Given the description of an element on the screen output the (x, y) to click on. 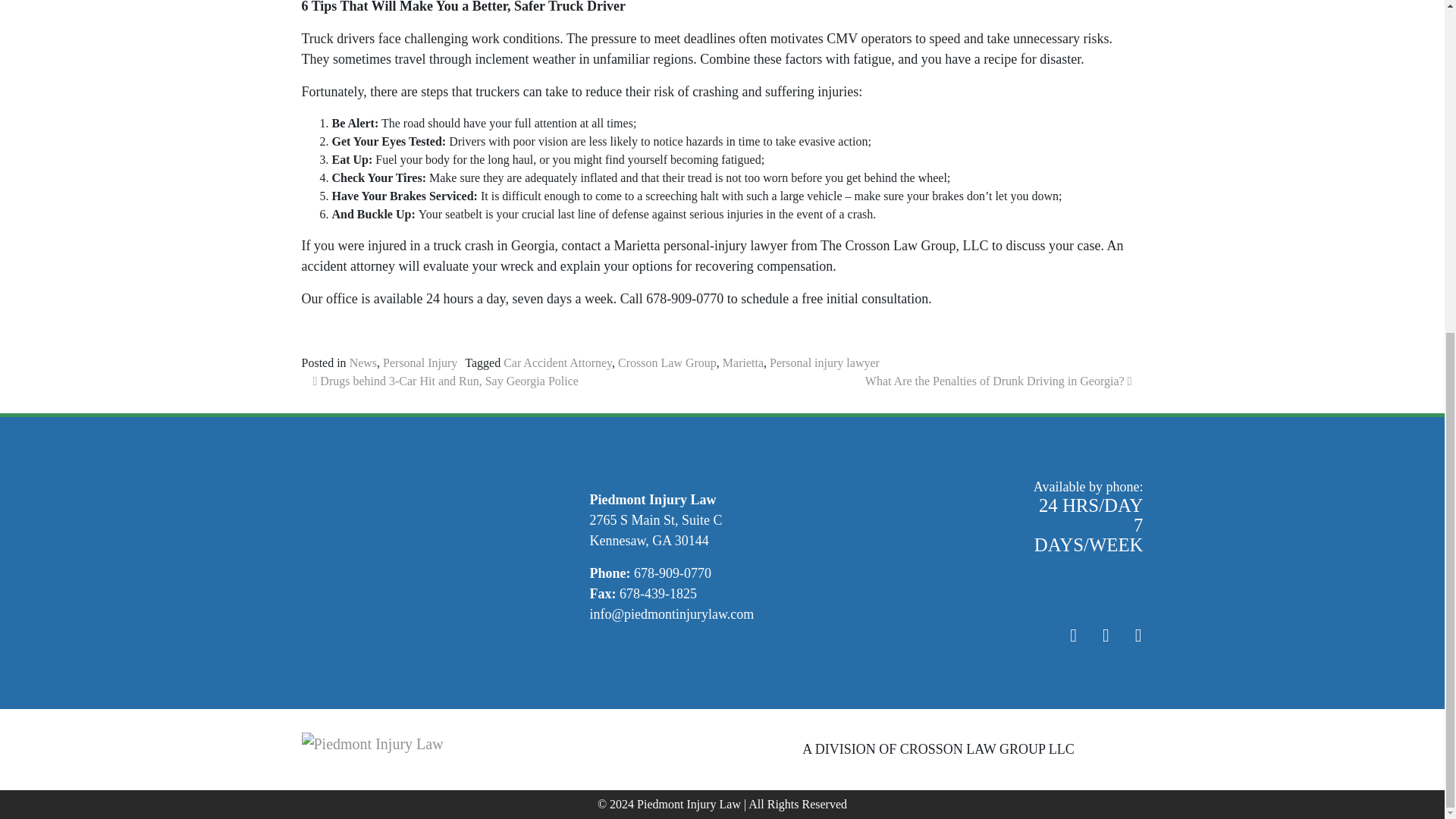
Marietta (742, 362)
Personal injury lawyer (824, 362)
Personal Injury (419, 362)
Crosson Law Group (666, 362)
News (363, 362)
678-909-0770 (672, 572)
Car Accident Attorney (557, 362)
 Drugs behind 3-Car Hit and Run, Say Georgia Police (445, 380)
What Are the Penalties of Drunk Driving in Georgia?  (998, 380)
